Given the description of an element on the screen output the (x, y) to click on. 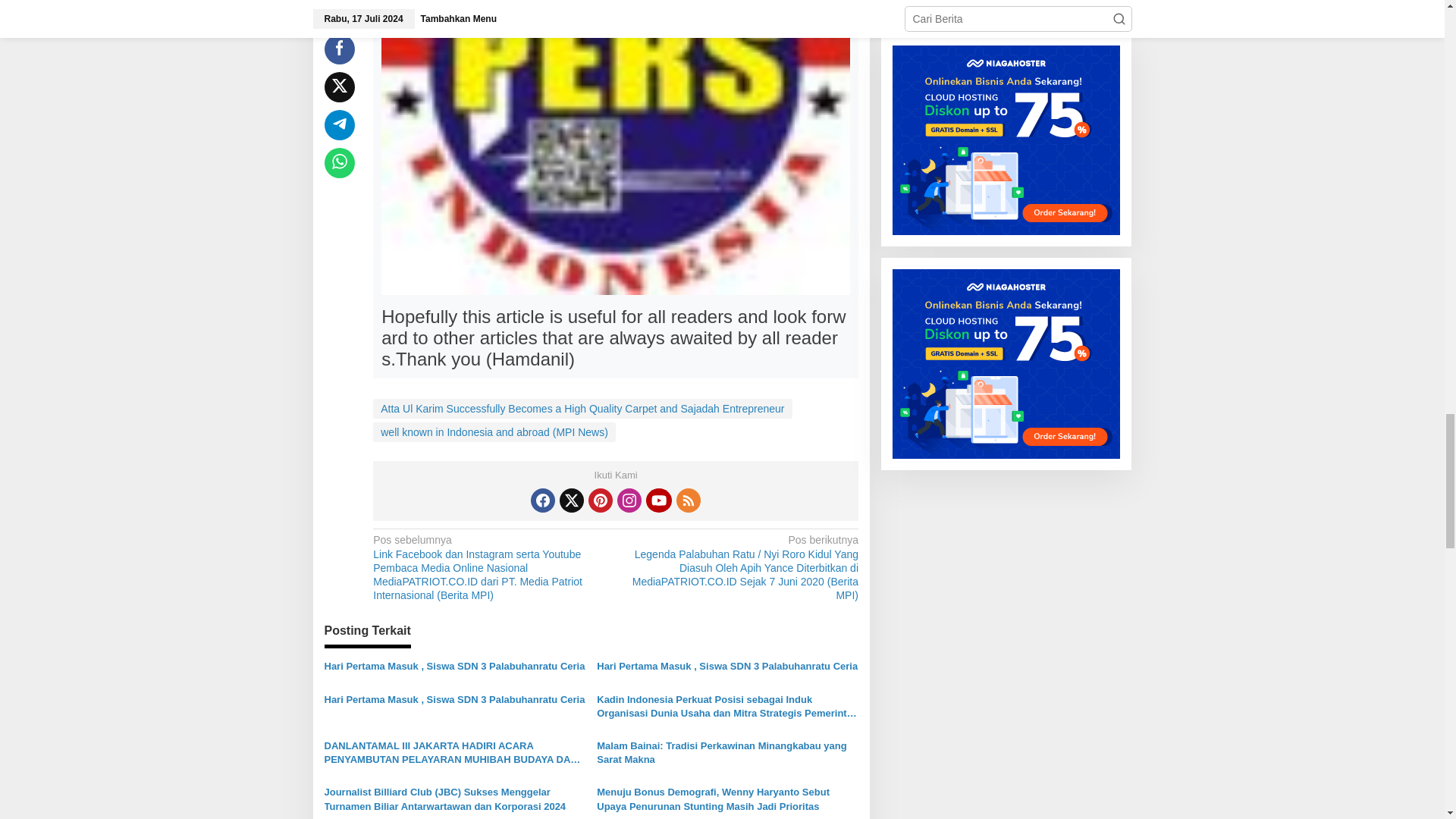
Twitter (571, 500)
Facebook (542, 500)
